Given the description of an element on the screen output the (x, y) to click on. 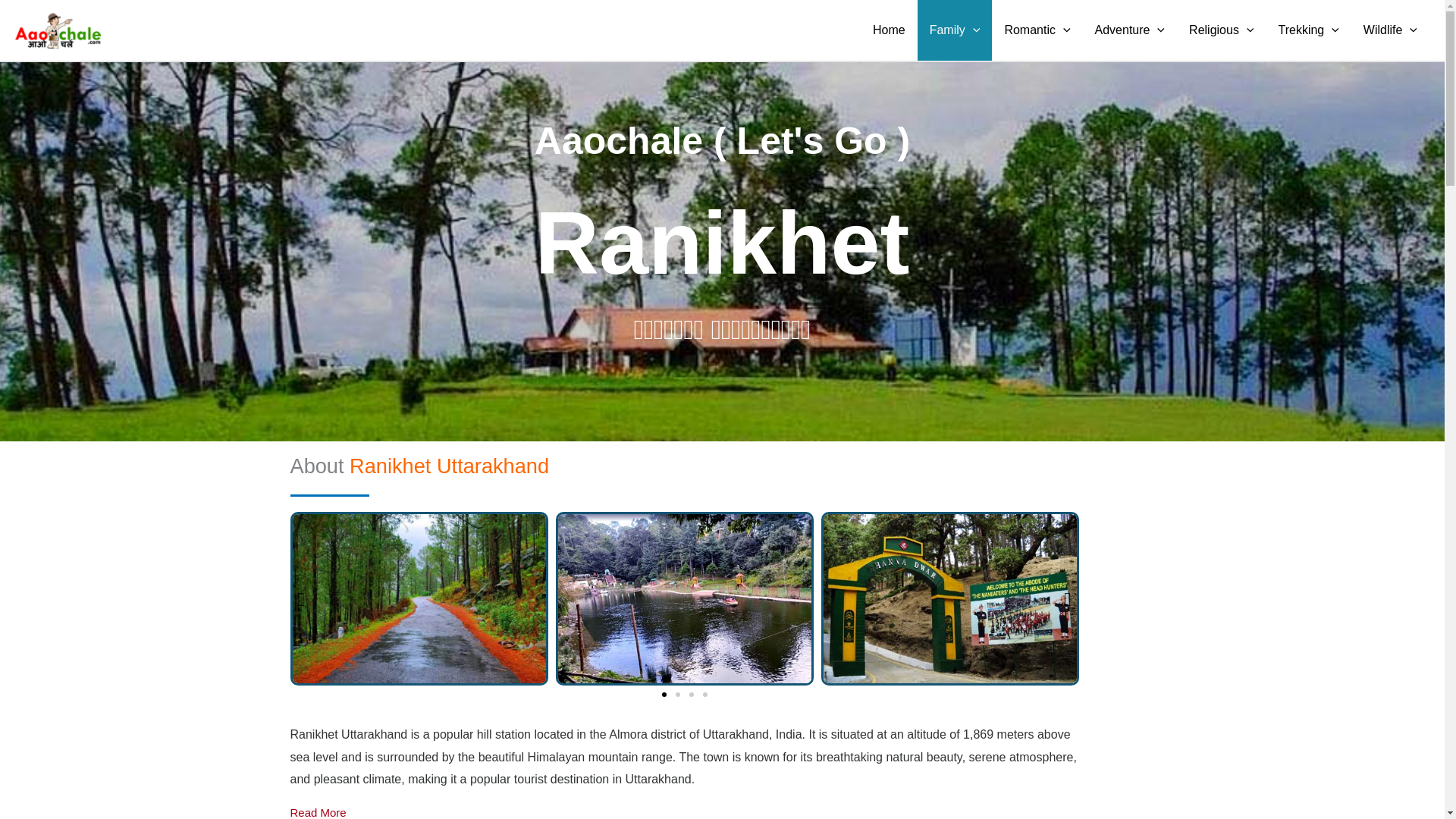
Religious (1220, 30)
Adventure (1130, 30)
Trekking (1308, 30)
Home (888, 30)
Wildlife (1390, 30)
Romantic (1036, 30)
Family (954, 30)
